Given the description of an element on the screen output the (x, y) to click on. 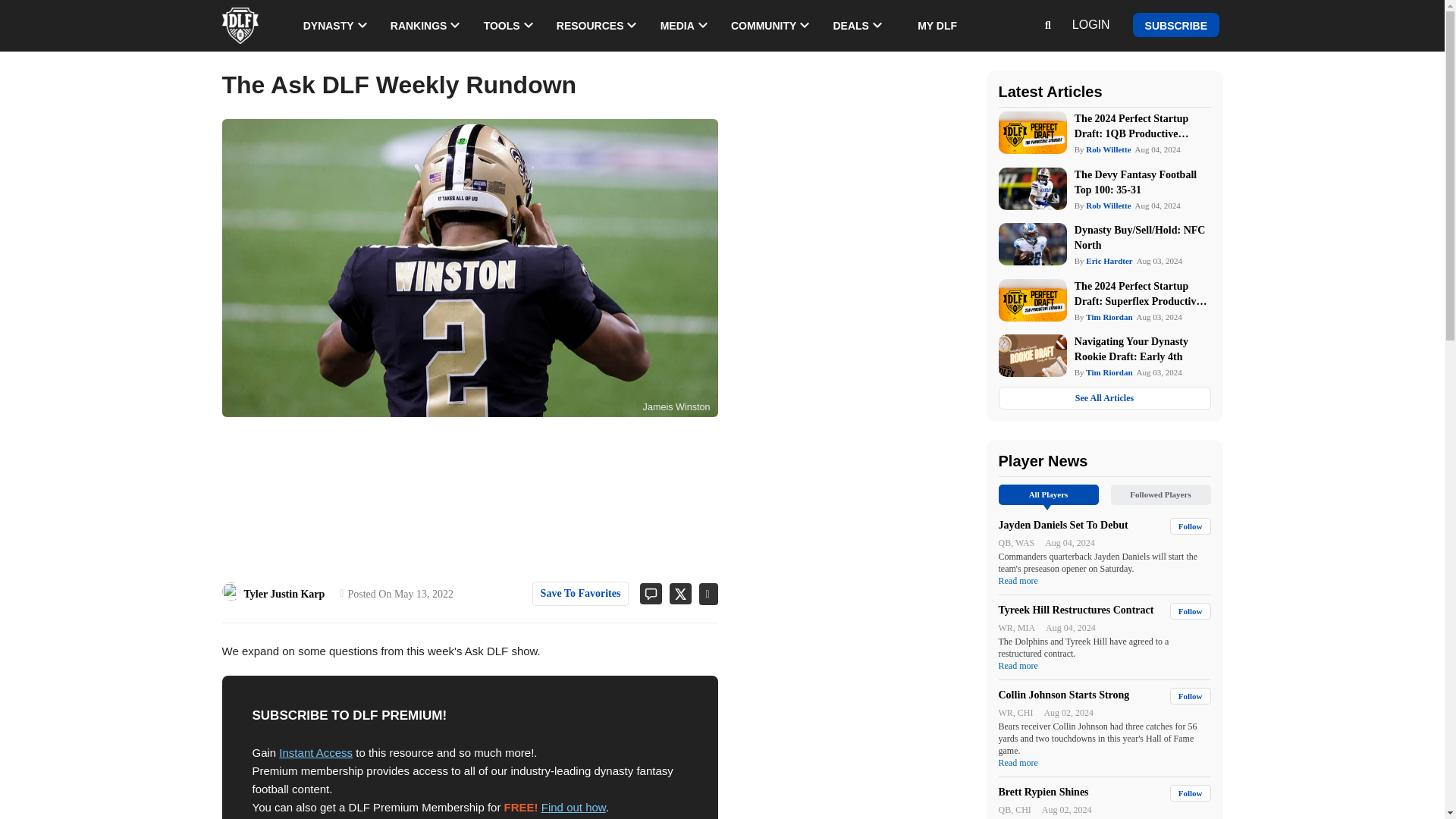
Discuss in Comments (645, 593)
The devy fantasy football top 100: 35-31 9 (1031, 188)
Share on Facebook (704, 593)
Navigating your dynasty rookie draft: early 4th 12 (1031, 355)
The 2024 perfect startup draft: 1qb productive struggle 8 (1031, 132)
Tyler Justin Karp (230, 591)
